Given the description of an element on the screen output the (x, y) to click on. 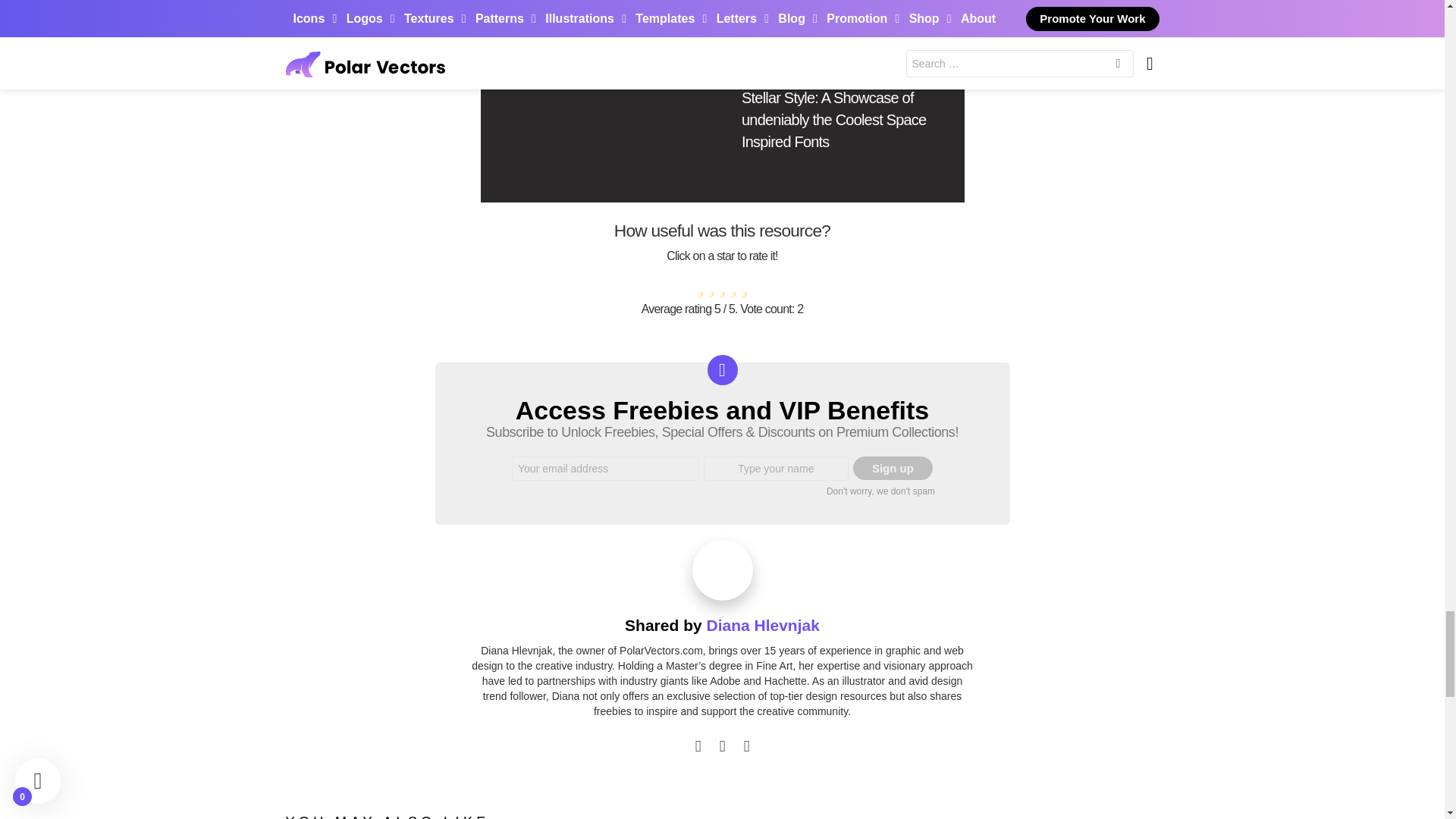
Sign up (893, 467)
